Given the description of an element on the screen output the (x, y) to click on. 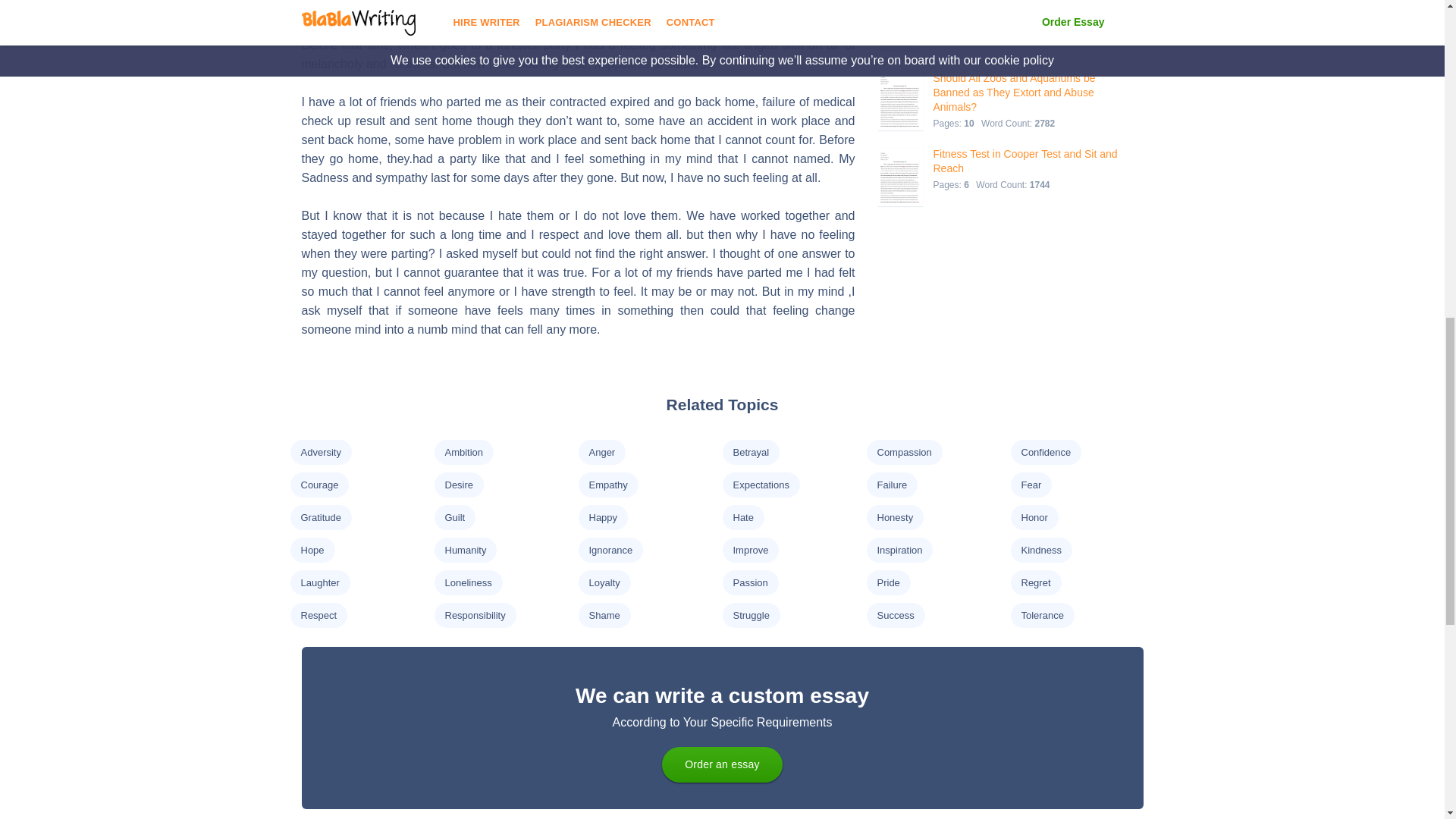
Betrayal (750, 451)
Courage (318, 484)
Anger (601, 451)
Confidence (1045, 451)
Fitness Test in Cooper Test and Sit and Reach (1025, 161)
Ambition (463, 451)
Adversity (319, 451)
Compassion (903, 451)
